Given the description of an element on the screen output the (x, y) to click on. 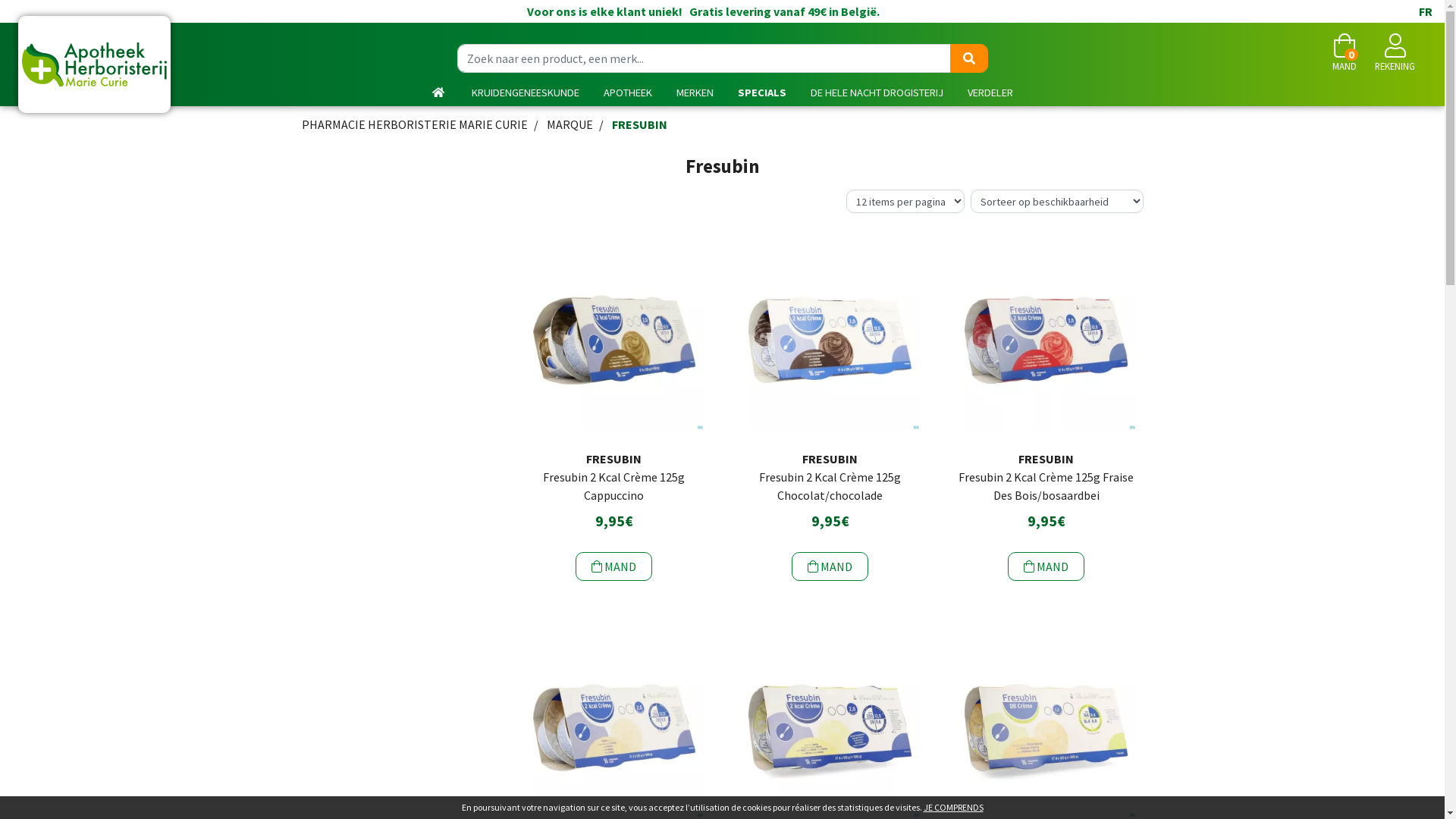
MAND Element type: text (829, 566)
APOTHEEK Element type: text (627, 92)
MARQUE Element type: text (569, 123)
FR Element type: text (1425, 11)
MERKEN Element type: text (694, 92)
DE HELE NACHT DROGISTERIJ Element type: text (875, 92)
FRESUBIN Element type: text (638, 123)
MAND Element type: text (613, 566)
REKENING Element type: text (1394, 53)
MAND Element type: text (1045, 566)
SPECIALS Element type: text (760, 92)
VERDELER Element type: text (990, 92)
KRUIDENGENEESKUNDE Element type: text (525, 92)
PHARMACIE HERBORISTERIE MARIE CURIE Element type: text (414, 123)
MAND
0 Element type: text (1344, 53)
